Given the description of an element on the screen output the (x, y) to click on. 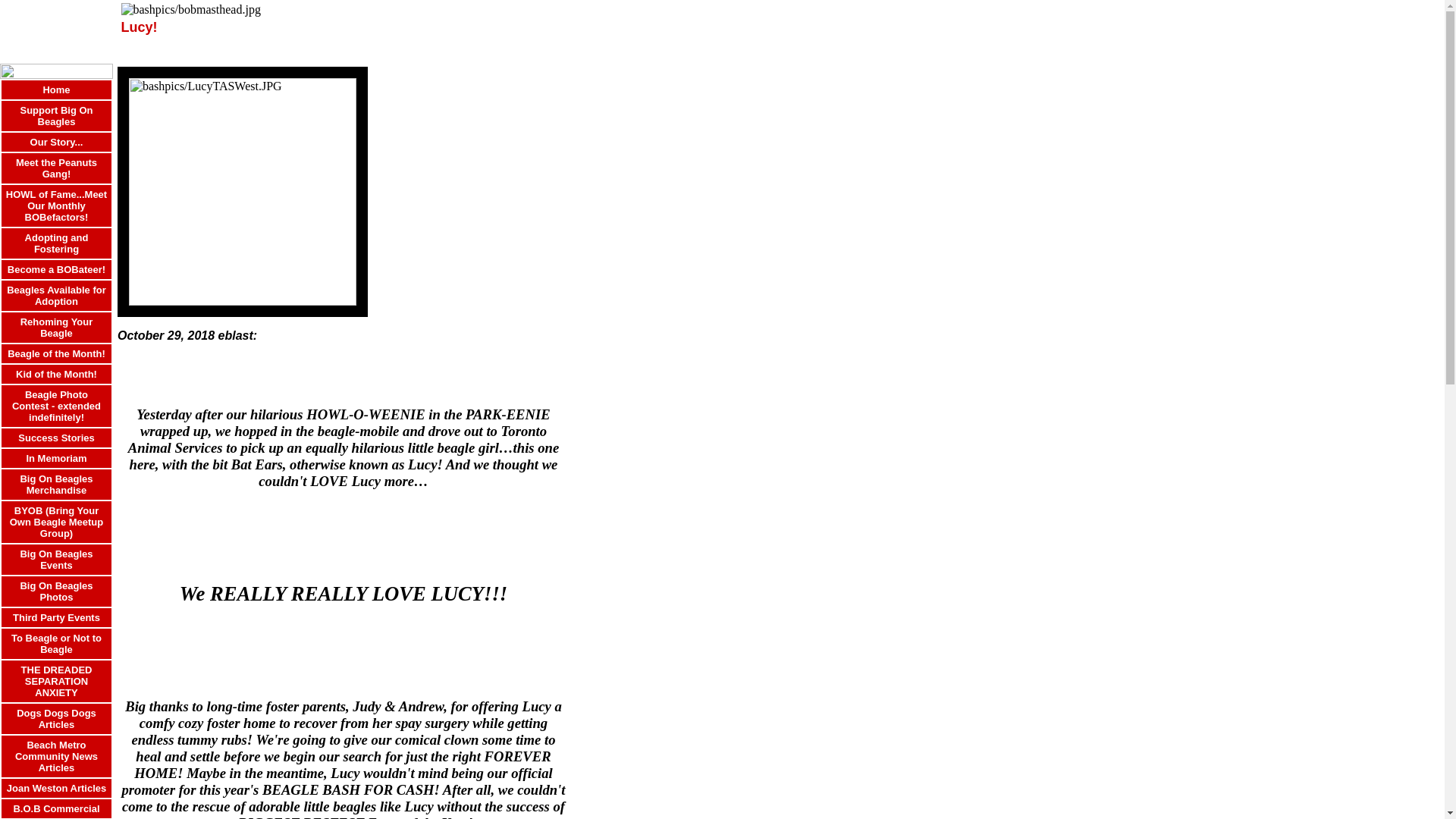
Kid of the Month! (56, 373)
Beagle Photo Contest - extended indefinitely! (55, 405)
Beach Metro Community News Articles (55, 755)
To Beagle or Not to Beagle (56, 642)
Beagle of the Month! (55, 352)
Big On Beagles Merchandise (56, 483)
Rehoming Your Beagle (56, 326)
THE DREADED SEPARATION ANXIETY (57, 680)
Big On Beagles Photos (56, 590)
Beagles Available for Adoption (56, 294)
